Given the description of an element on the screen output the (x, y) to click on. 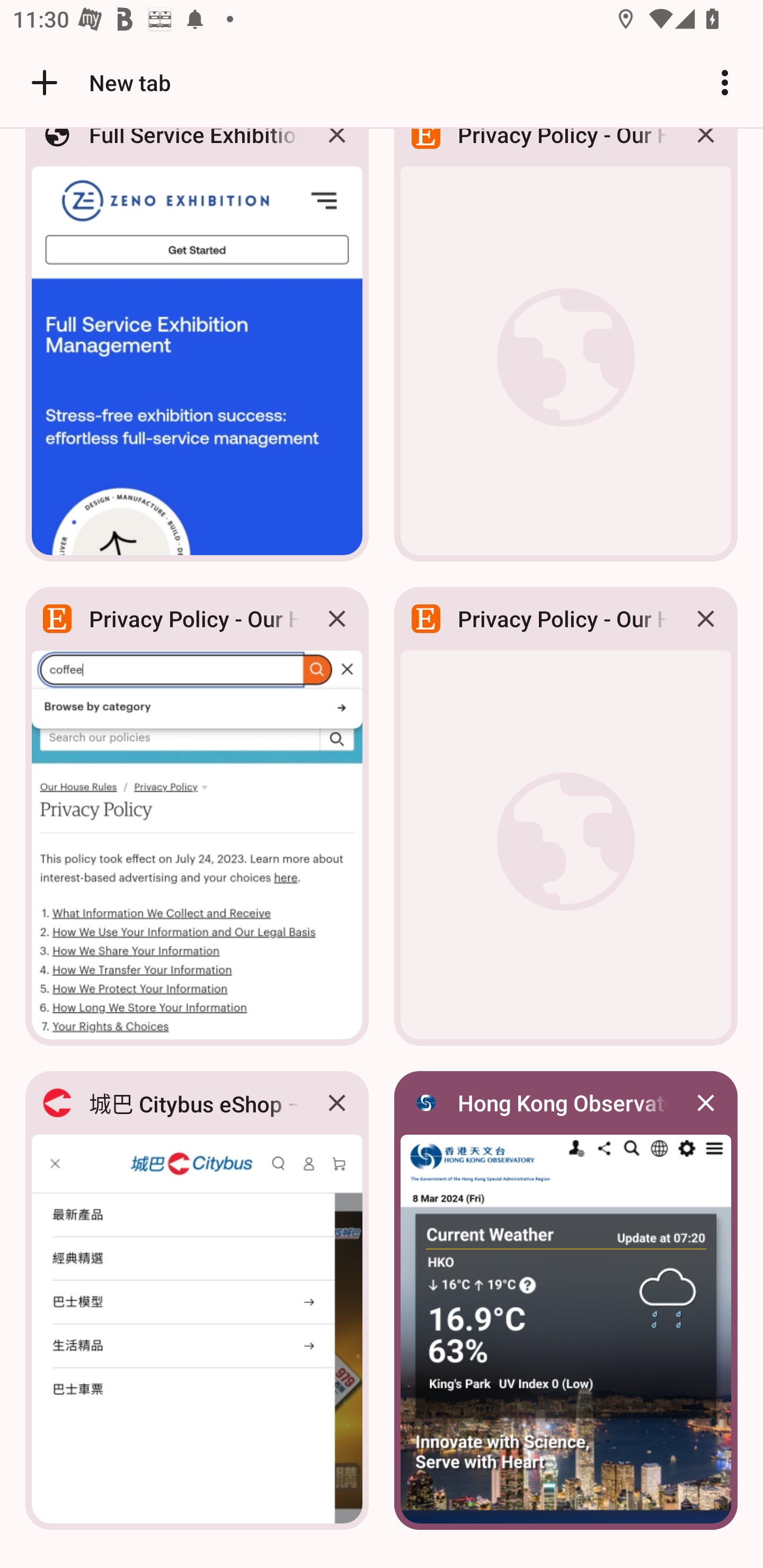
Open the home page (38, 82)
New tab (98, 82)
Customize and control Google Chrome (724, 82)
Close Privacy Policy - Our House Rules | Etsy tab (705, 149)
Close Privacy Policy - Our House Rules | Etsy tab (337, 618)
Close Privacy Policy - Our House Rules | Etsy tab (705, 618)
Close 城巴 Citybus eShop – 城巴 Citybus eShop tab (337, 1102)
Close Hong Kong Observatory tab (705, 1102)
